Given the description of an element on the screen output the (x, y) to click on. 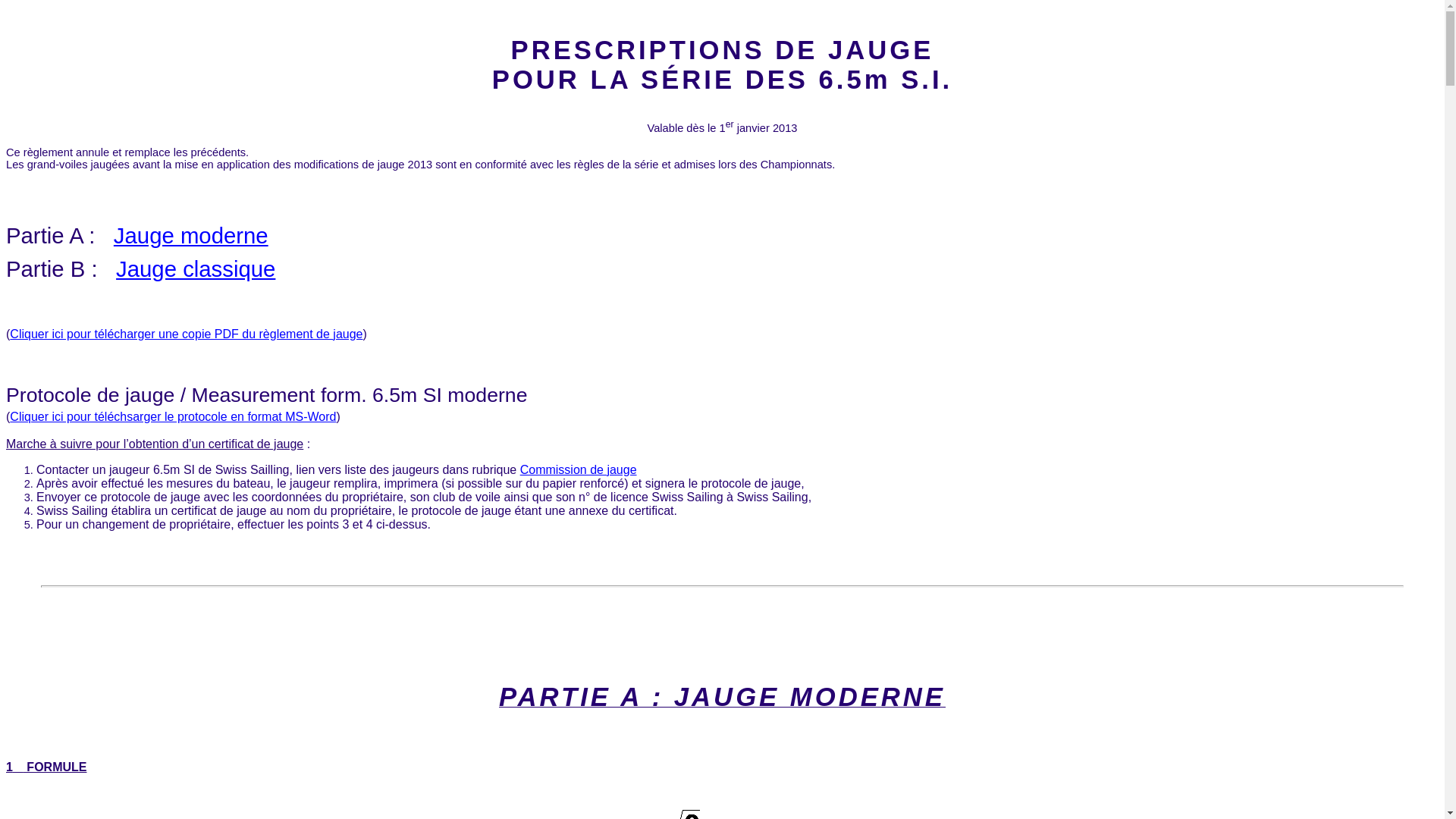
1       FORMULE Element type: text (46, 766)
Commission de jauge Element type: text (578, 469)
Jauge moderne Element type: text (190, 234)
Jauge classique Element type: text (250, 285)
